Given the description of an element on the screen output the (x, y) to click on. 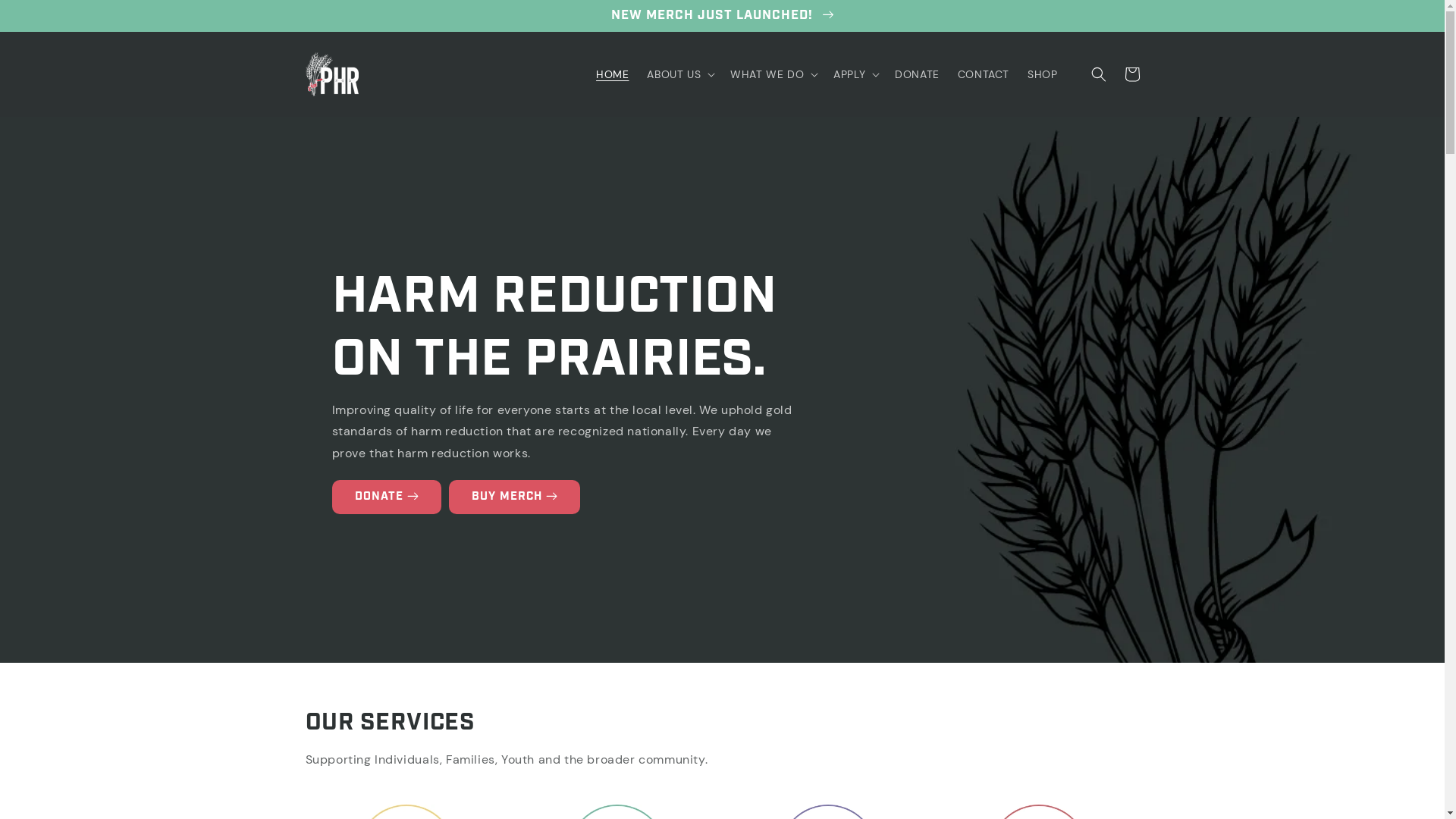
HOME Element type: text (611, 74)
DONATE Element type: text (916, 74)
SHOP Element type: text (1042, 74)
DONATE
  Element type: text (386, 497)
BUY MERCH
  Element type: text (514, 497)
CONTACT Element type: text (983, 74)
Cart Element type: text (1131, 74)
NEW MERCH JUST LAUNCHED! Element type: text (722, 15)
